Given the description of an element on the screen output the (x, y) to click on. 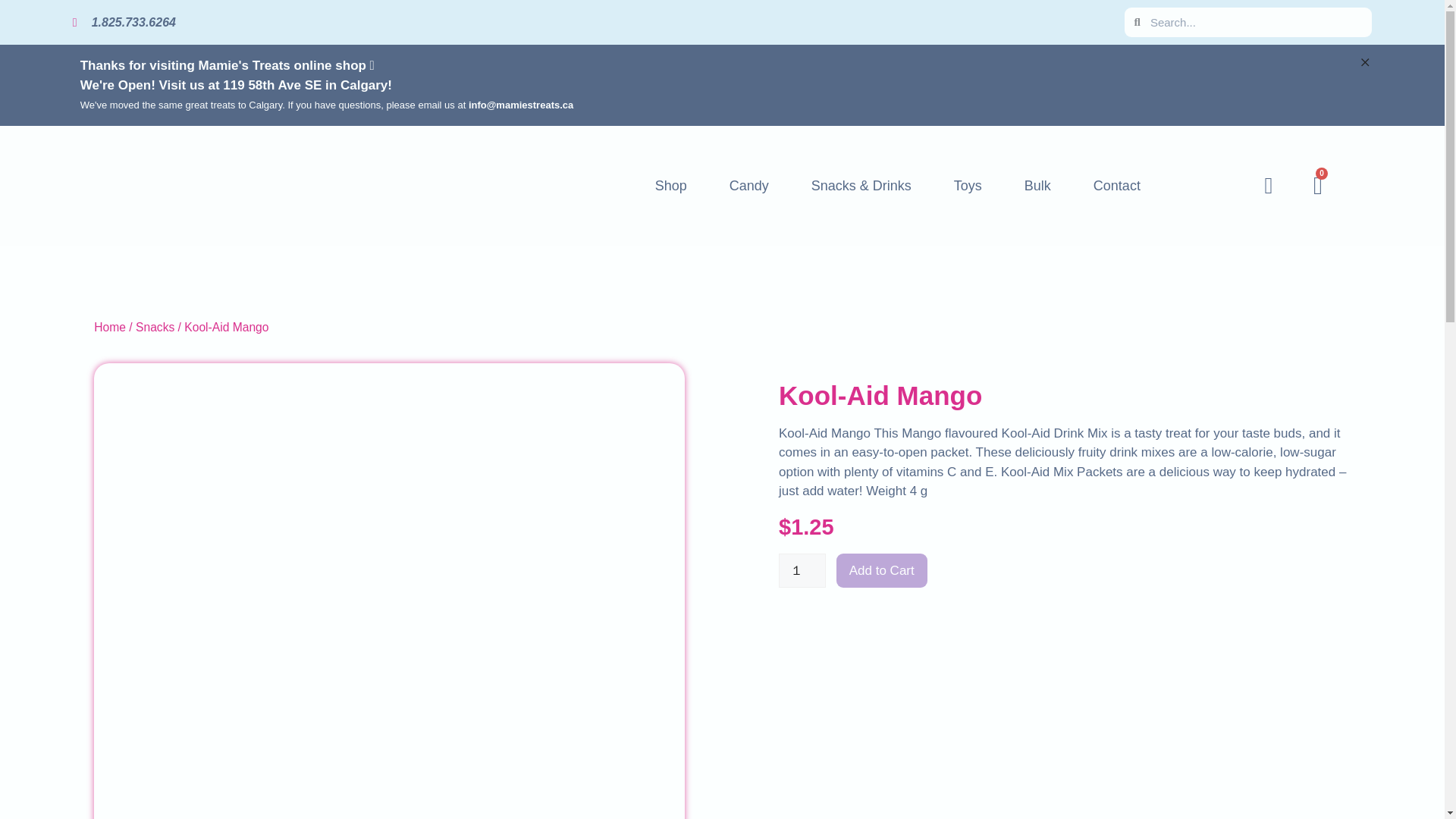
Candy (748, 185)
1 (801, 570)
Shop (670, 185)
1.825.733.6264 (590, 22)
